Given the description of an element on the screen output the (x, y) to click on. 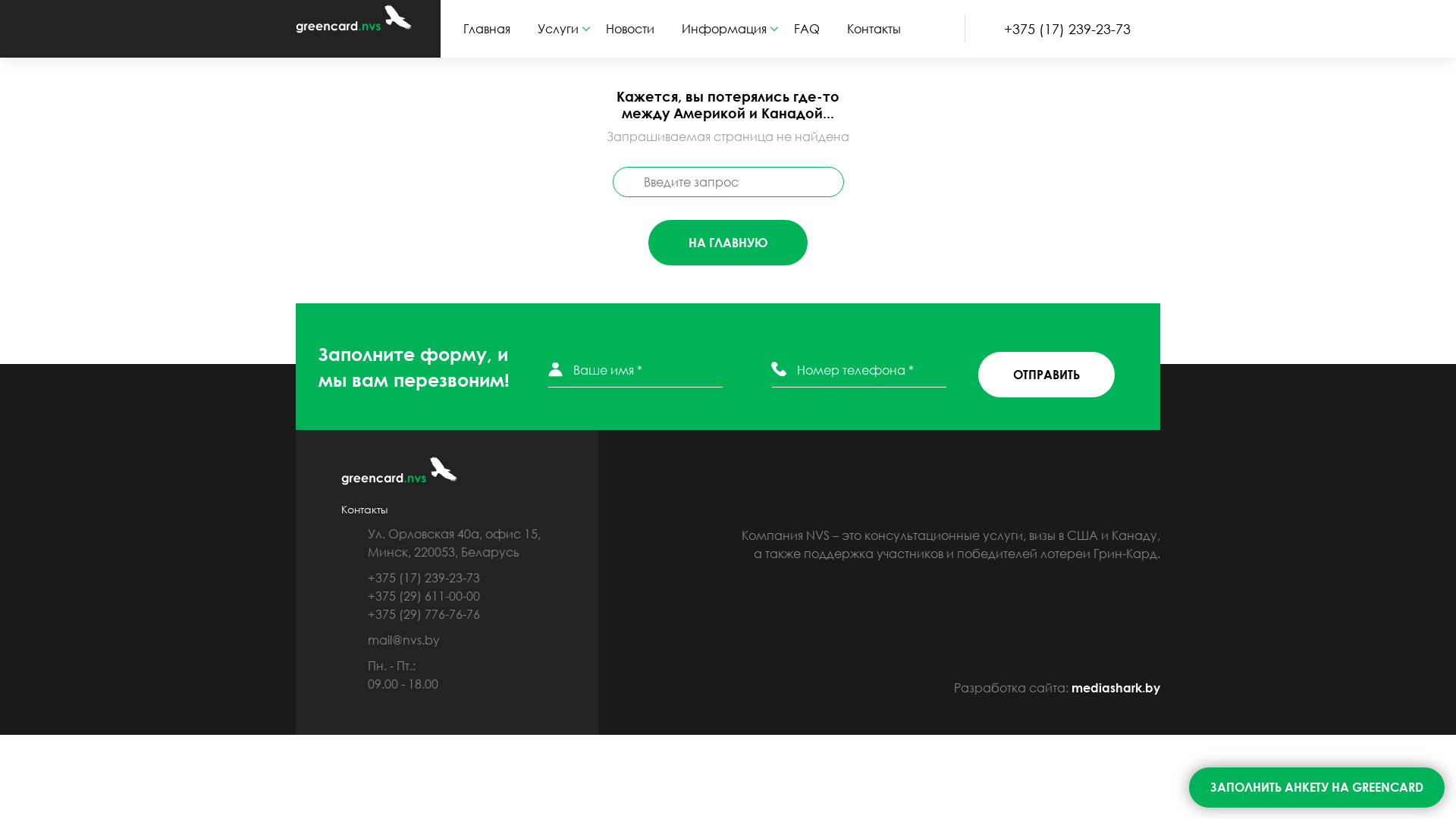
+375 (29) 611-00-00 Element type: text (467, 595)
FAQ Element type: text (812, 28)
+375 (17) 239-23-73 Element type: text (1072, 28)
+375 (29) 776-76-76 Element type: text (467, 614)
mediashark.by Element type: text (1115, 687)
+375 (17) 239-23-73 Element type: text (467, 577)
mail@nvs.by Element type: text (454, 643)
